Given the description of an element on the screen output the (x, y) to click on. 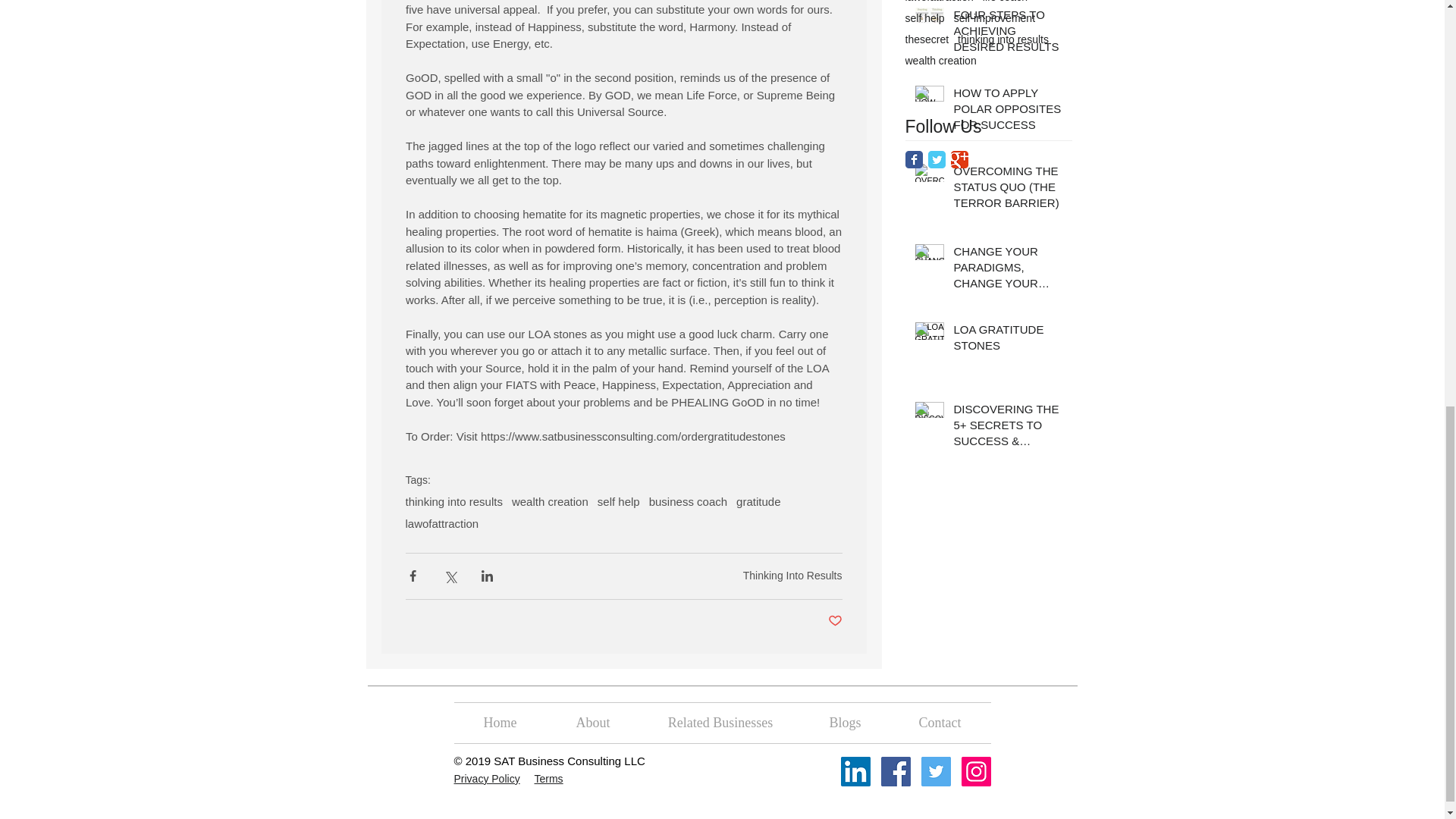
FOUR STEPS TO ACHIEVING DESIRED RESULTS (1007, 33)
lawofattraction (441, 522)
LOA GRATITUDE STONES (1007, 340)
Thinking Into Results (792, 575)
Post not marked as liked (835, 621)
wealth creation (550, 501)
self help (618, 501)
thinking into results (453, 501)
self help (924, 18)
business coach (687, 501)
CHANGE YOUR PARADIGMS, CHANGE YOUR LIFE (1007, 270)
gratitude (758, 501)
life coach (1004, 1)
HOW TO APPLY POLAR OPPOSITES FOR SUCCESS (1007, 111)
lawofattraction (939, 1)
